Given the description of an element on the screen output the (x, y) to click on. 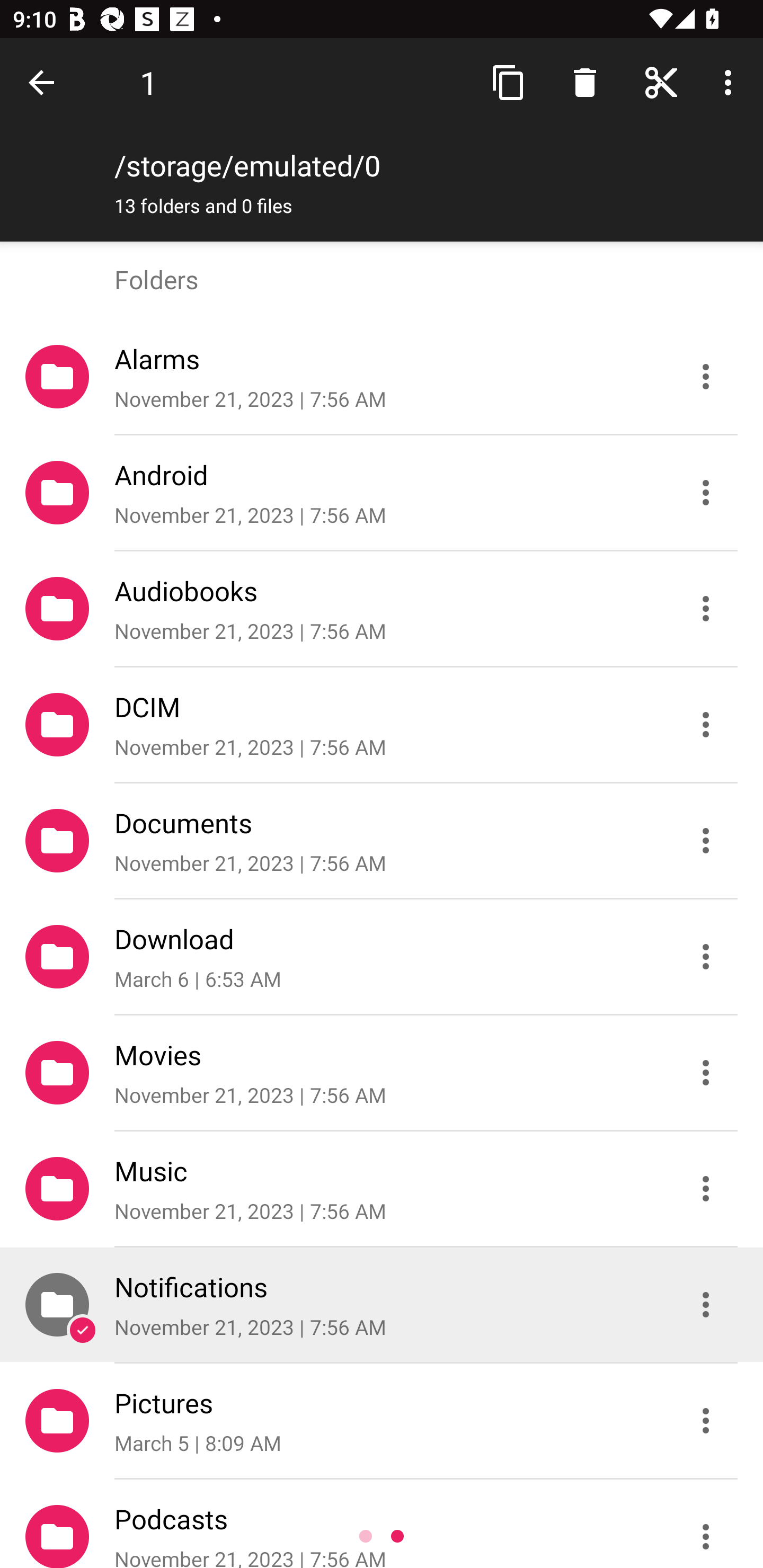
1 (148, 82)
Done (44, 81)
Copy (508, 81)
Delete (585, 81)
Search (661, 81)
More options (731, 81)
Alarms November 21, 2023 | 7:56 AM (381, 376)
Android November 21, 2023 | 7:56 AM (381, 492)
Audiobooks November 21, 2023 | 7:56 AM (381, 608)
DCIM November 21, 2023 | 7:56 AM (381, 724)
Documents November 21, 2023 | 7:56 AM (381, 841)
Download March 6 | 6:53 AM (381, 957)
Movies November 21, 2023 | 7:56 AM (381, 1073)
Music November 21, 2023 | 7:56 AM (381, 1189)
Notifications November 21, 2023 | 7:56 AM (381, 1305)
Pictures March 5 | 8:09 AM (381, 1421)
Podcasts November 21, 2023 | 7:56 AM (381, 1524)
